Given the description of an element on the screen output the (x, y) to click on. 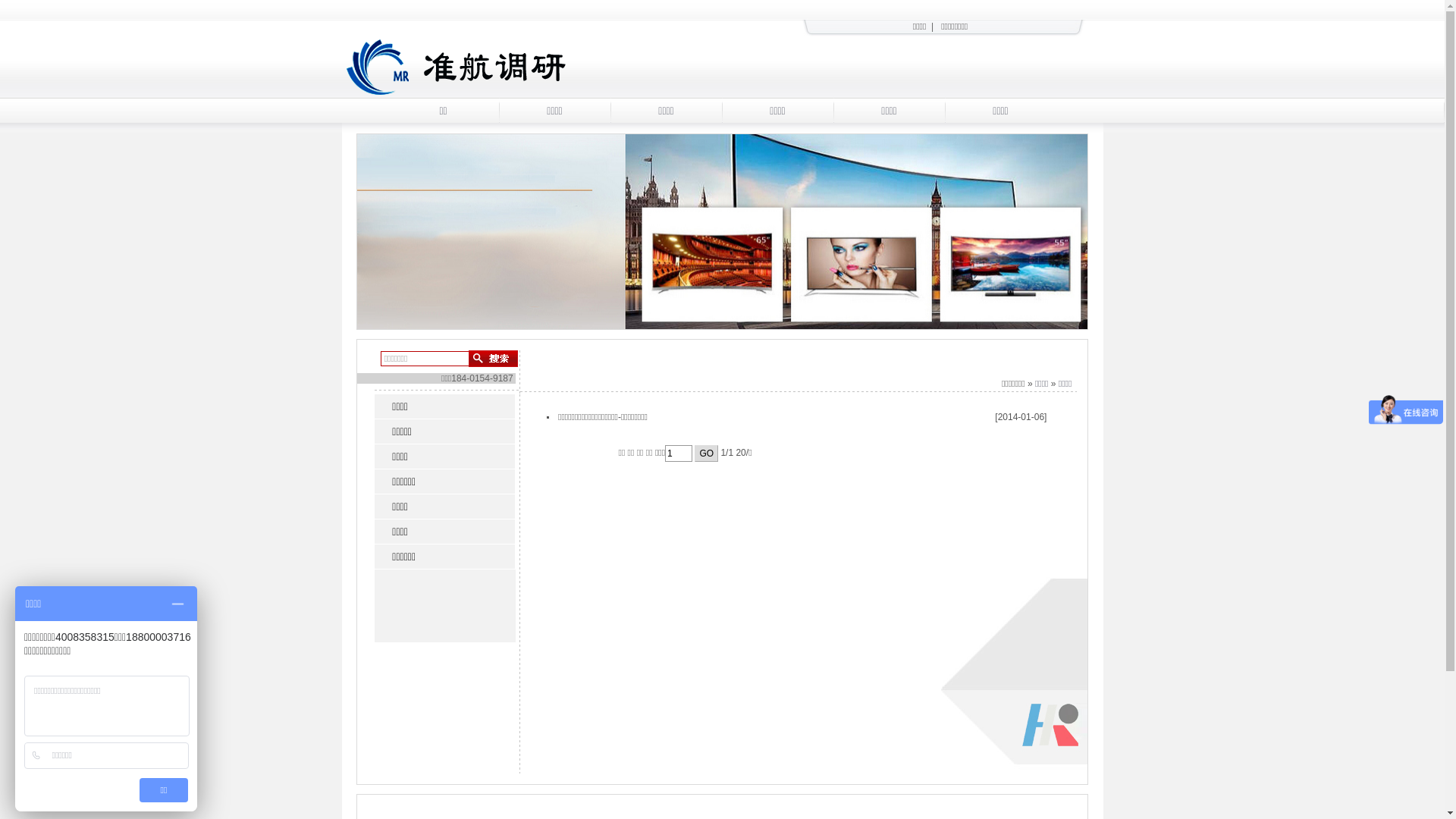
GO Element type: text (706, 453)
